Given the description of an element on the screen output the (x, y) to click on. 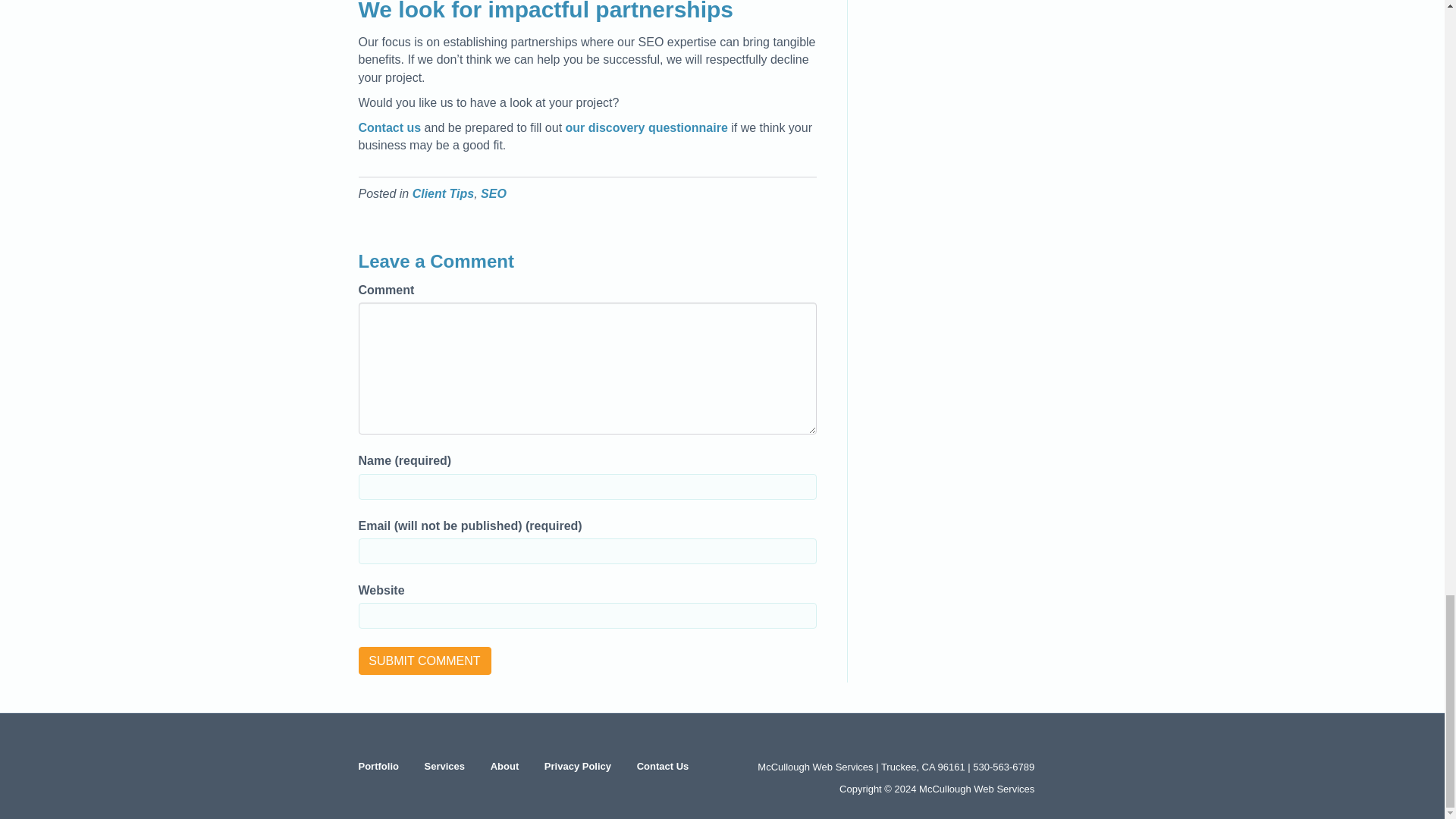
SEO (493, 193)
Submit Comment (424, 660)
our discovery questionnaire (647, 127)
Submit Comment (424, 660)
Client Tips (443, 193)
Contact us (389, 127)
